Given the description of an element on the screen output the (x, y) to click on. 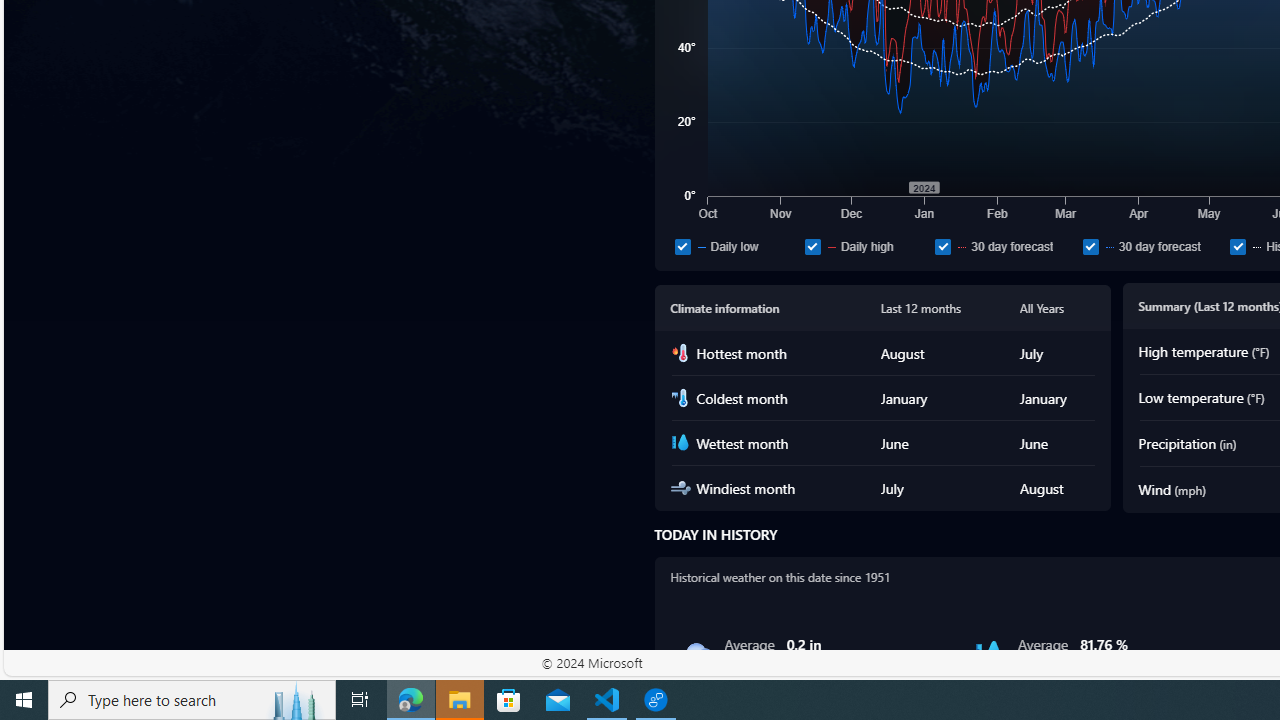
Humidity (989, 654)
Historical daily temperature (1238, 246)
Daily high (811, 246)
30 day forecast (1090, 246)
Daily high (865, 246)
Daily low (735, 246)
30 day forecast (1151, 246)
Daily low (682, 246)
Rain (695, 654)
